Given the description of an element on the screen output the (x, y) to click on. 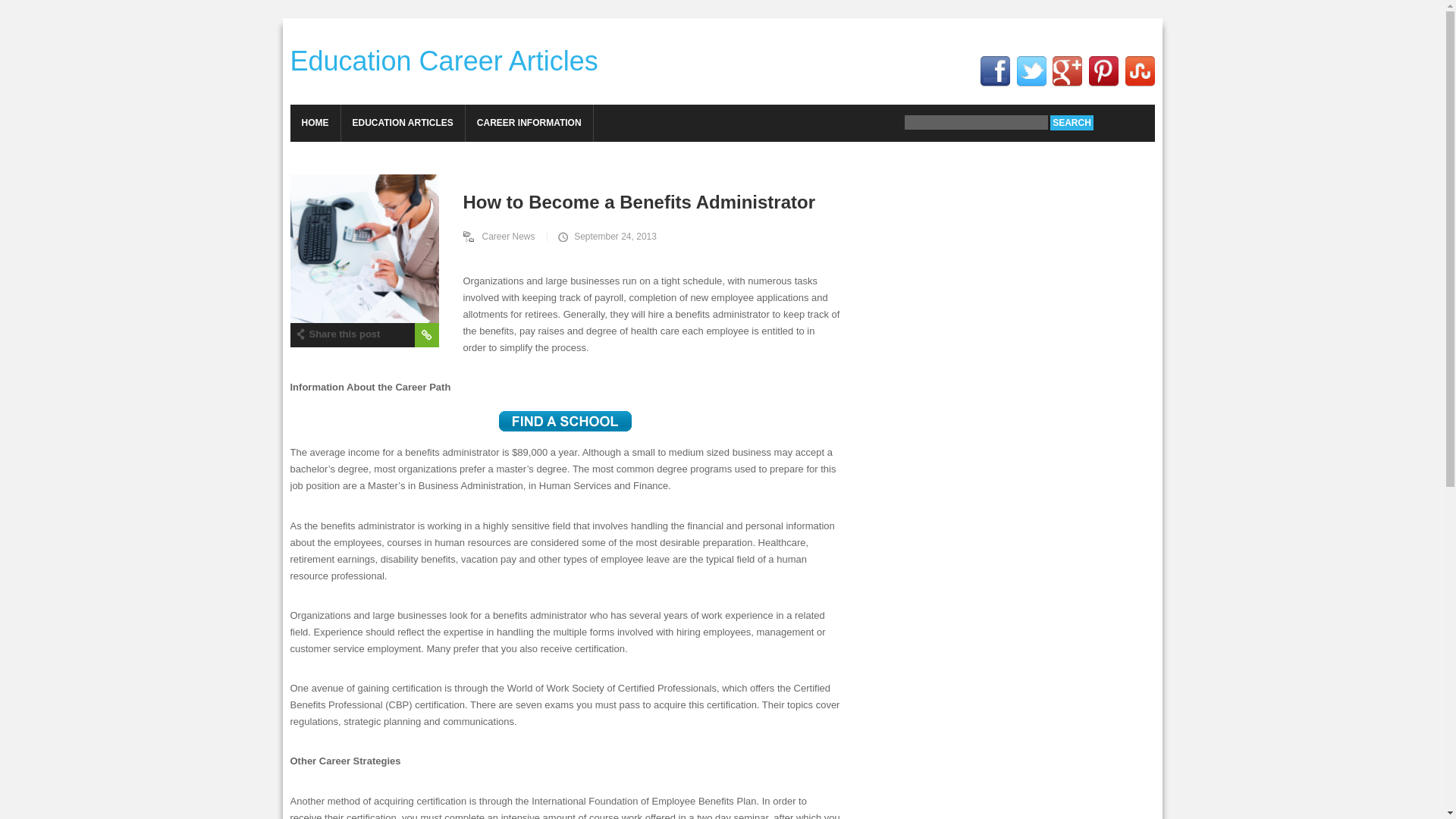
HOME (314, 122)
Share this post (336, 332)
Education Career Articles (442, 60)
Permalink to How to Become a Benefits Administrator (363, 248)
CAREER INFORMATION (528, 122)
EDUCATION ARTICLES (402, 122)
4:23 PM (605, 235)
Permalink (425, 334)
Career News (505, 235)
How to Become a Benefits Administrator (572, 200)
